Given the description of an element on the screen output the (x, y) to click on. 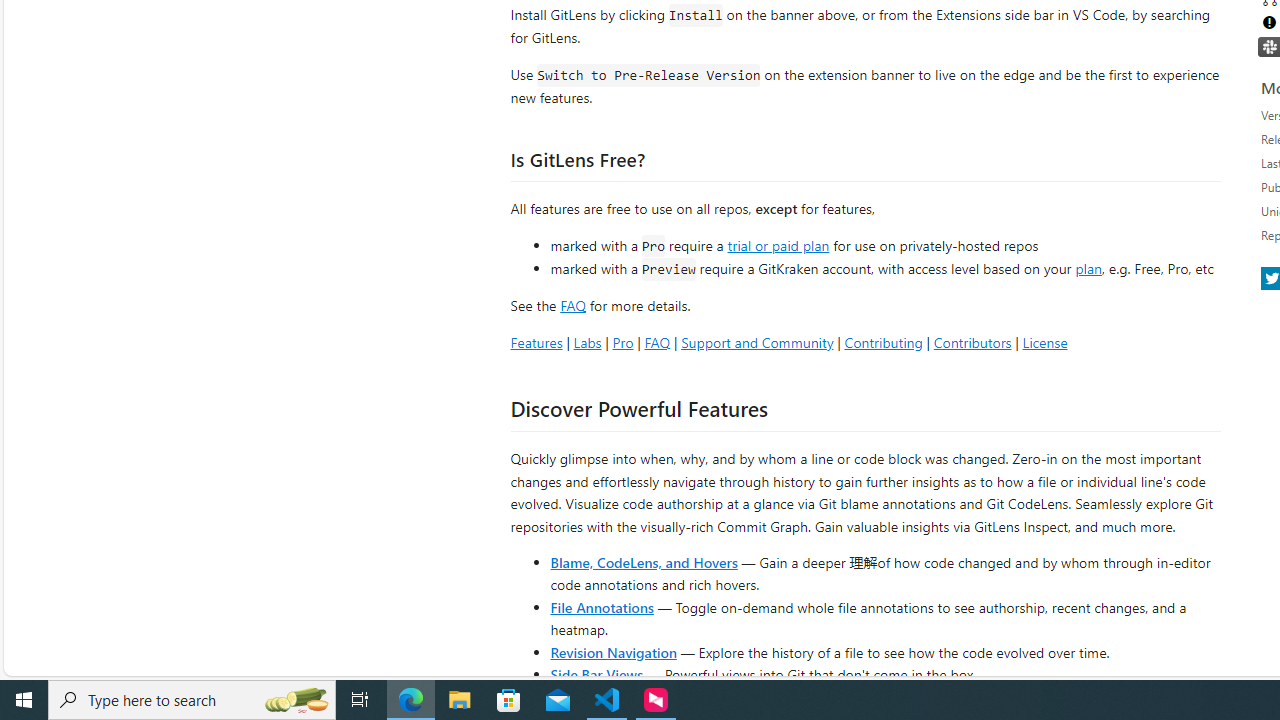
Features (536, 341)
Blame, CodeLens, and Hovers (644, 561)
Labs (587, 341)
Pro (622, 341)
plan (1088, 269)
File Annotations (602, 606)
Revision Navigation (613, 651)
Support and Community (757, 341)
Contributing (882, 341)
FAQ (656, 341)
